Given the description of an element on the screen output the (x, y) to click on. 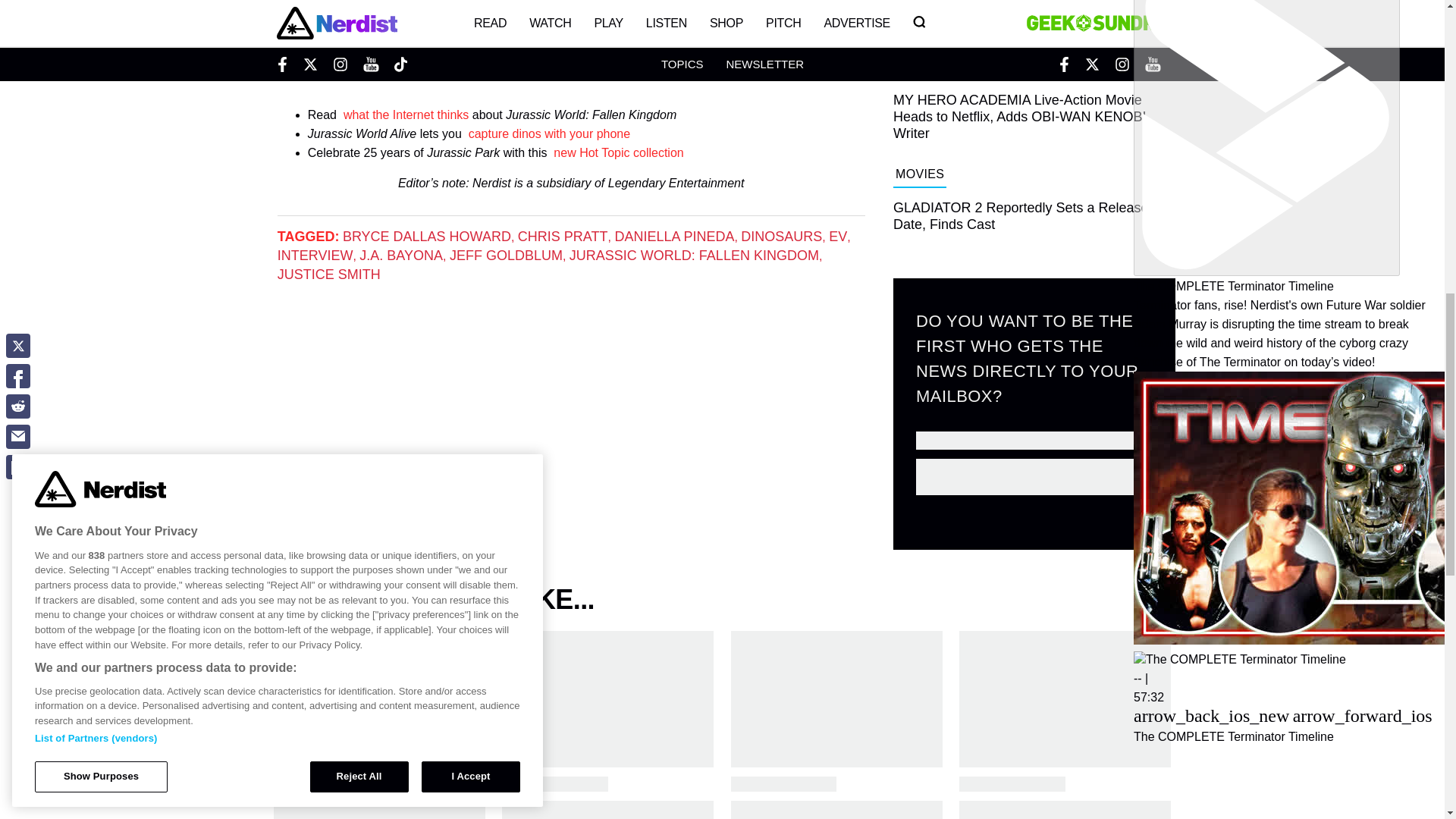
DINOSAURS (781, 236)
BRYCE DALLAS HOWARD (426, 236)
DANIELLA PINEDA (673, 236)
new Hot Topic collection (617, 152)
CHRIS PRATT (563, 236)
INTERVIEW (315, 255)
what the Internet thinks (405, 114)
EV (837, 236)
JEFF GOLDBLUM (505, 255)
J.A. BAYONA (400, 255)
